Given the description of an element on the screen output the (x, y) to click on. 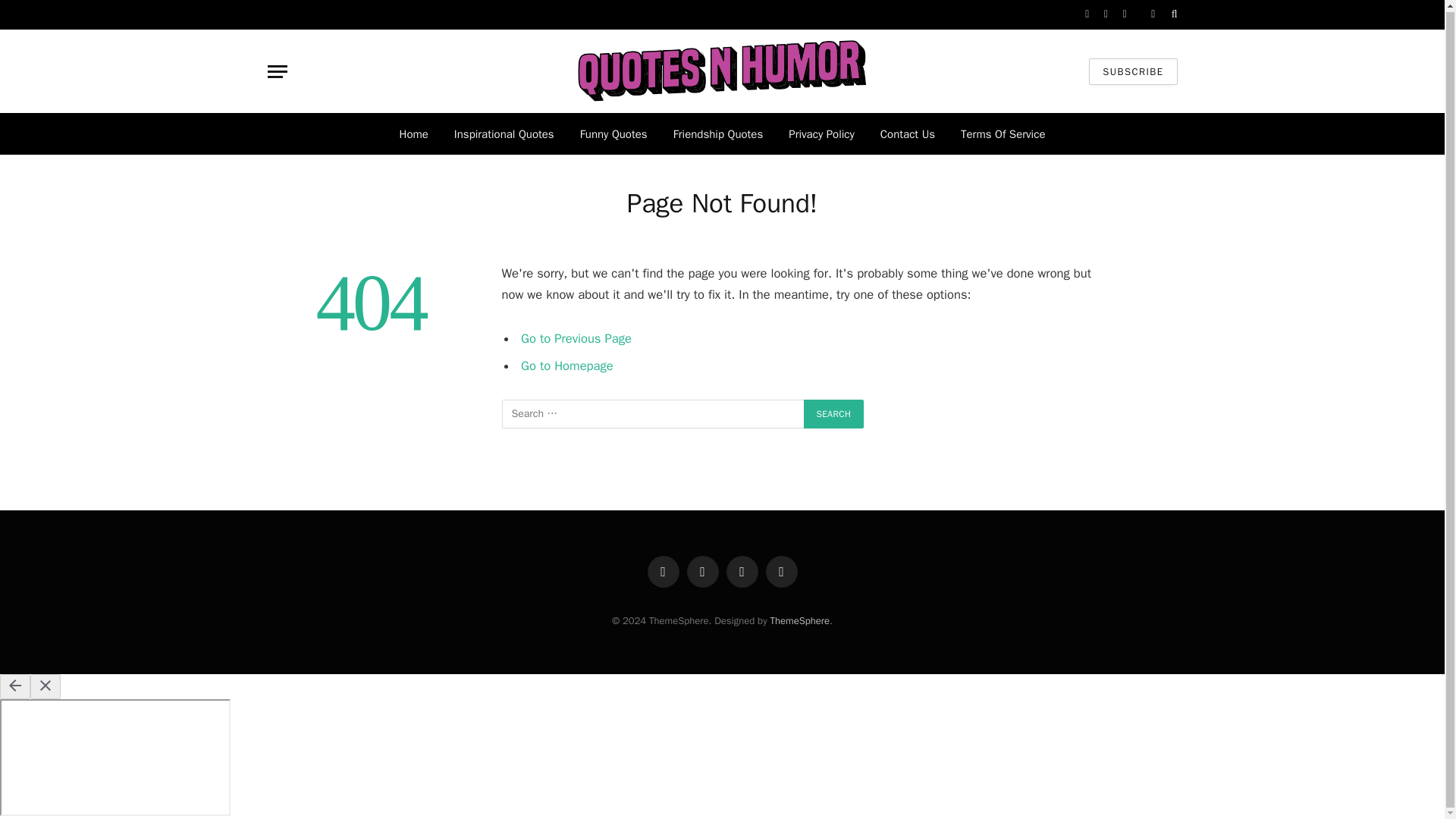
Privacy Policy (821, 133)
Search (833, 413)
Switch to Dark Design - easier on eyes. (1152, 14)
Inspirational Quotes (504, 133)
ThemeSphere (799, 620)
SUBSCRIBE (1132, 71)
Pinterest (781, 572)
Go to Previous Page (576, 338)
Search (833, 413)
Funny Quotes (614, 133)
Quotes Memes and Humor Stuff (722, 71)
Facebook (663, 572)
Contact Us (907, 133)
Friendship Quotes (718, 133)
Home (414, 133)
